Given the description of an element on the screen output the (x, y) to click on. 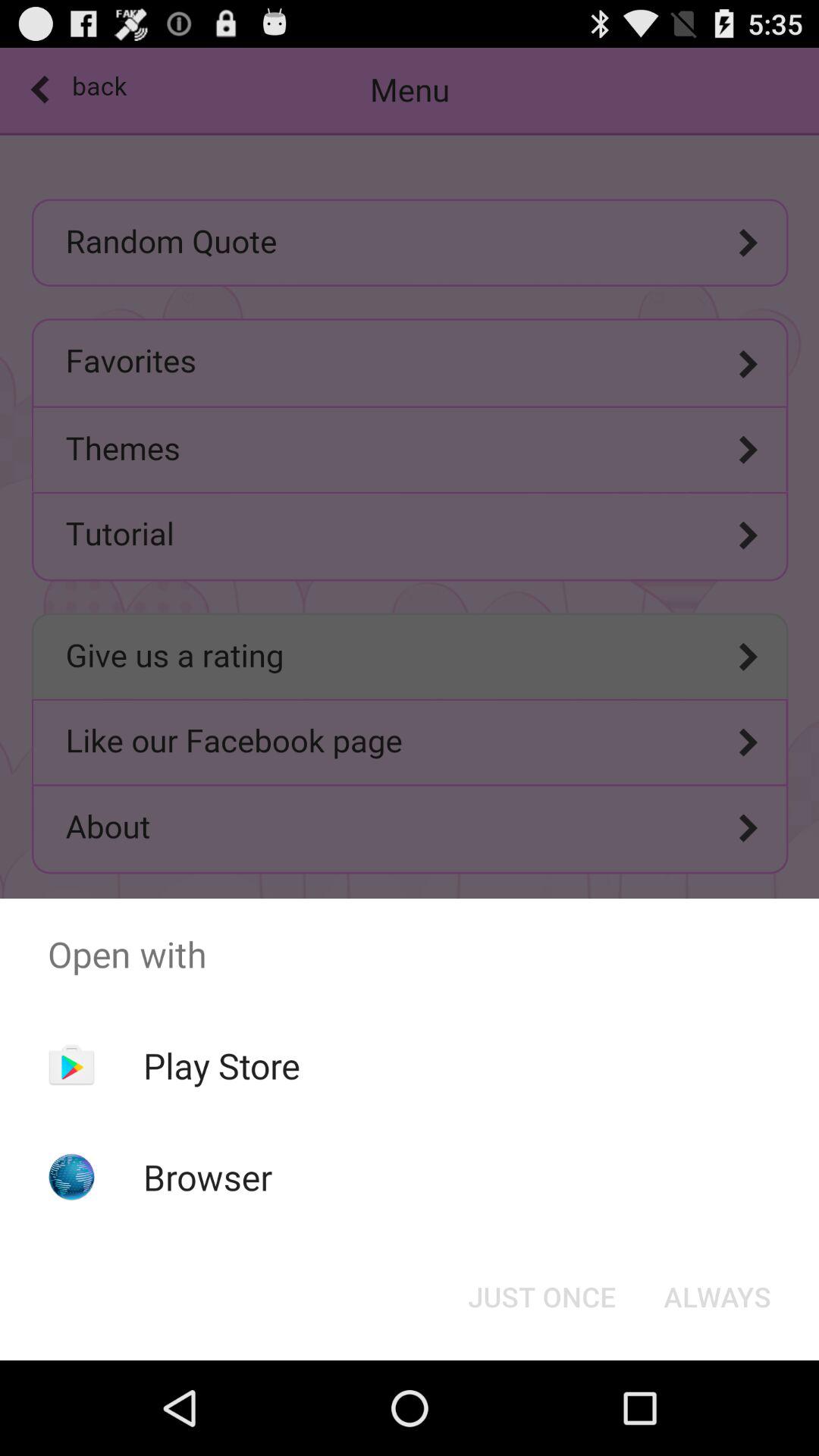
flip until the just once icon (541, 1296)
